Given the description of an element on the screen output the (x, y) to click on. 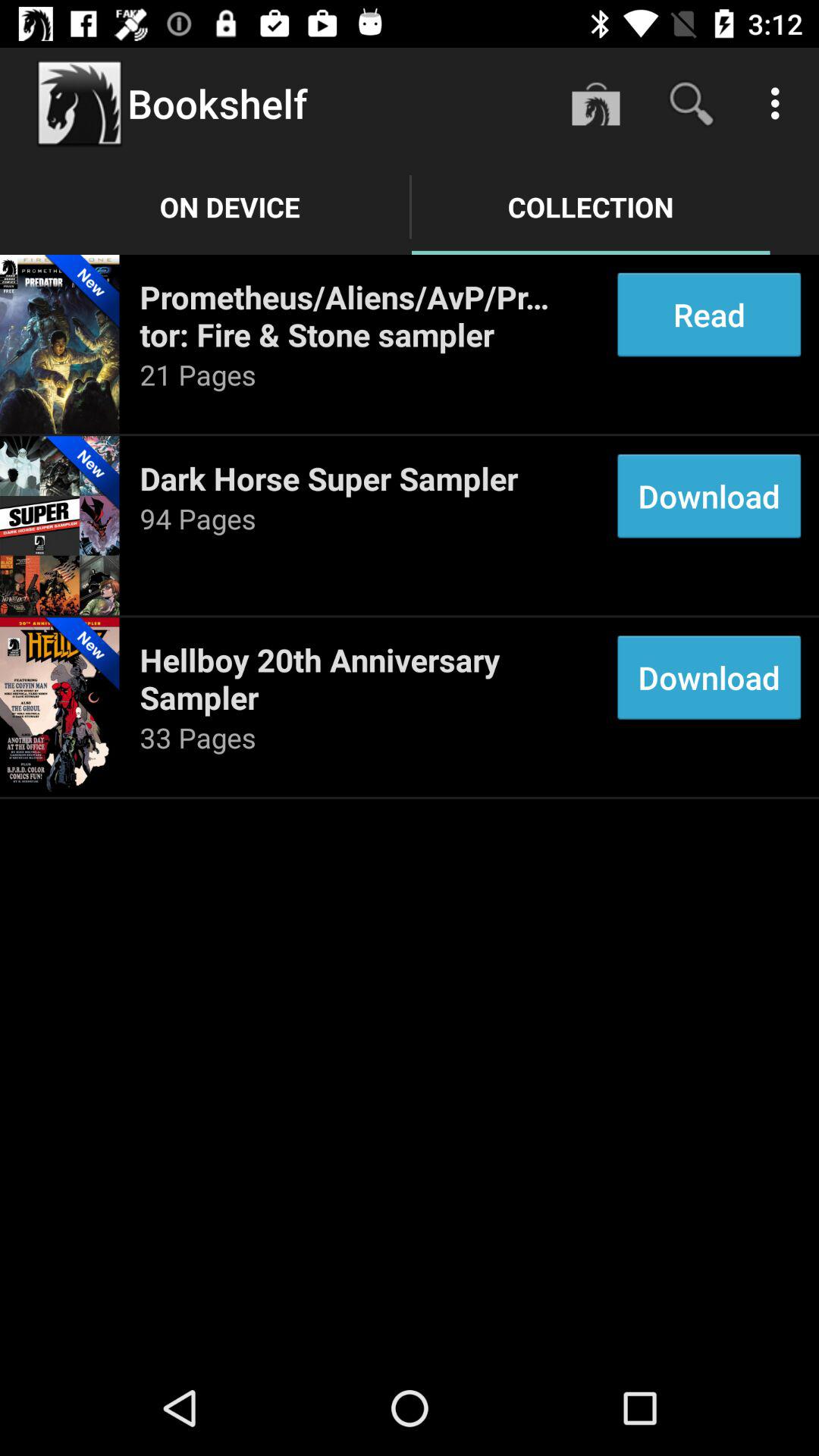
tap the item next to prometheus aliens avp (708, 314)
